Given the description of an element on the screen output the (x, y) to click on. 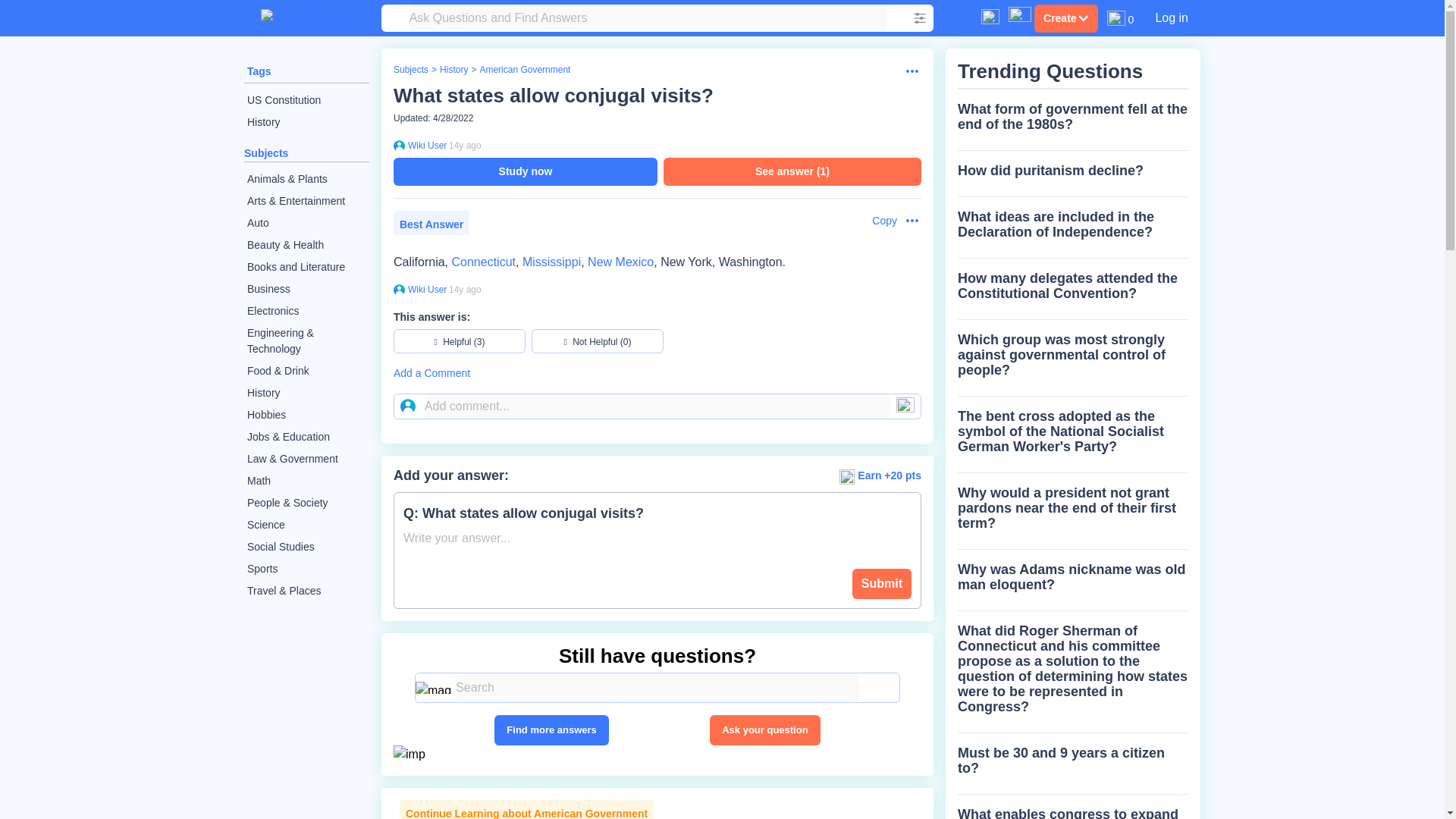
Books and Literature (306, 267)
Business (306, 289)
Auto (306, 223)
What states allow conjugal visits? (553, 95)
History (453, 69)
US Constitution (306, 100)
New Mexico (620, 261)
History (306, 122)
Subjects (410, 69)
Social Studies (306, 546)
